Given the description of an element on the screen output the (x, y) to click on. 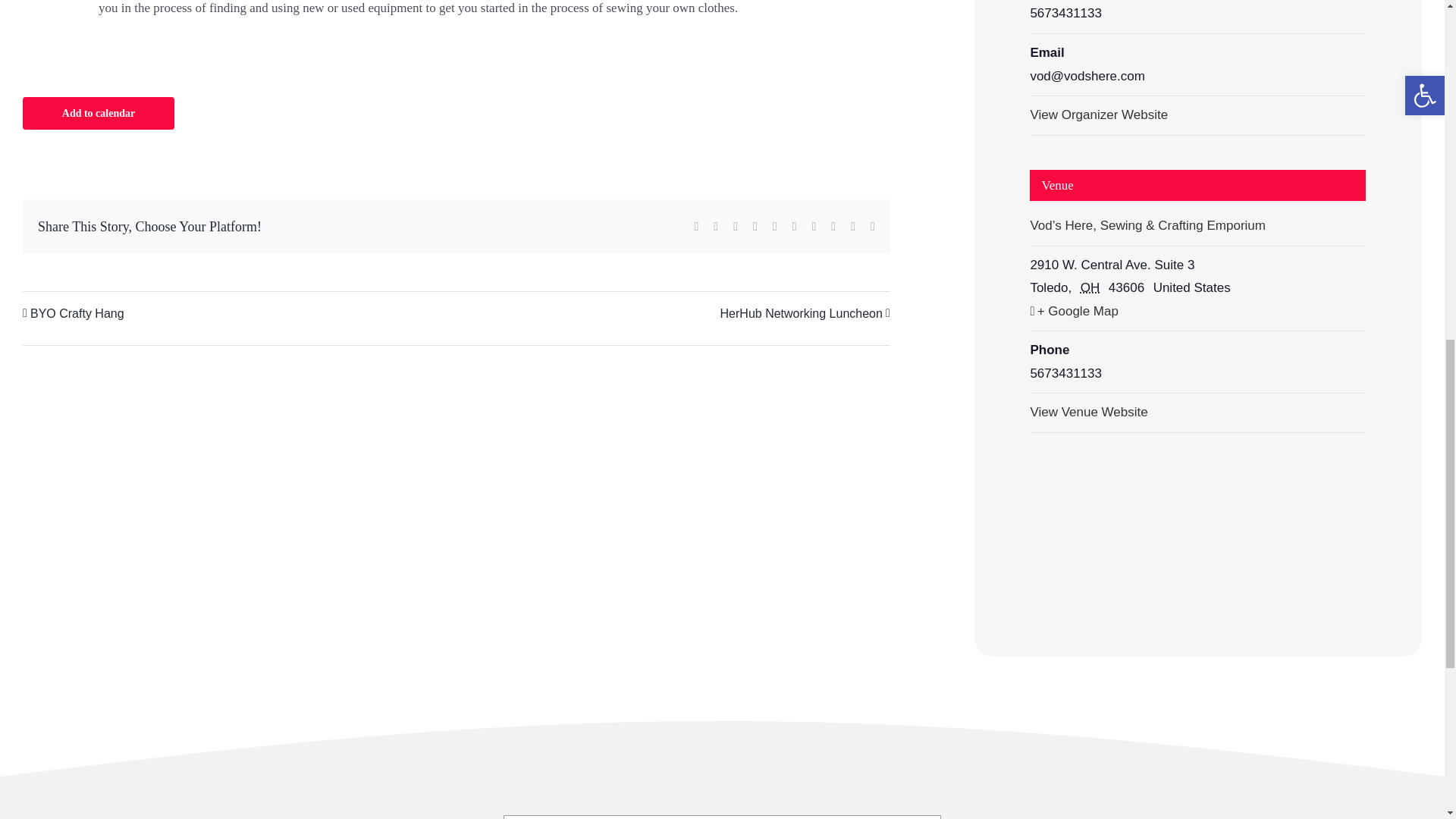
Ohio (1092, 287)
Click to view a Google Map (1197, 311)
